Given the description of an element on the screen output the (x, y) to click on. 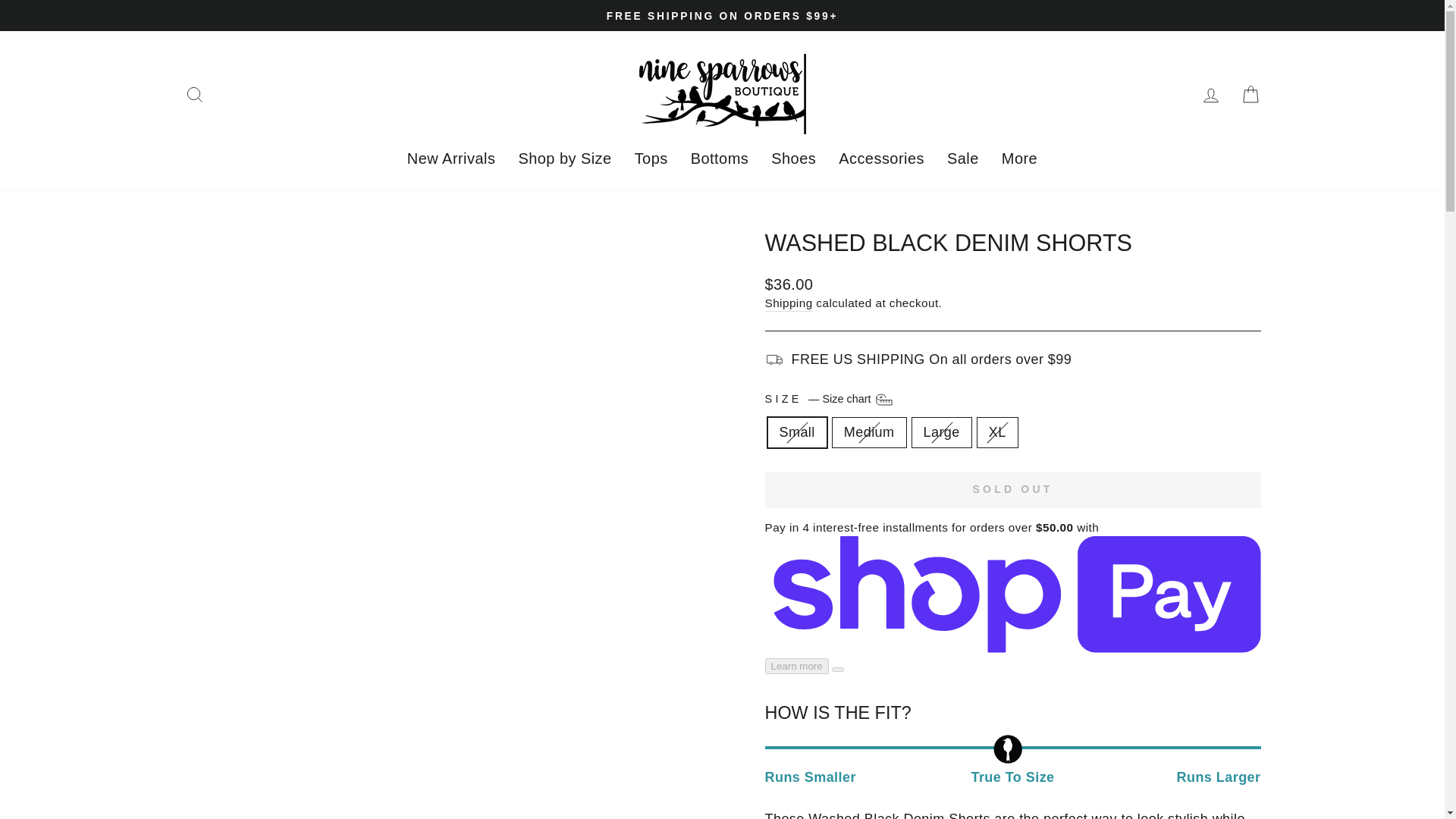
Log in (1210, 93)
Search (194, 93)
